Given the description of an element on the screen output the (x, y) to click on. 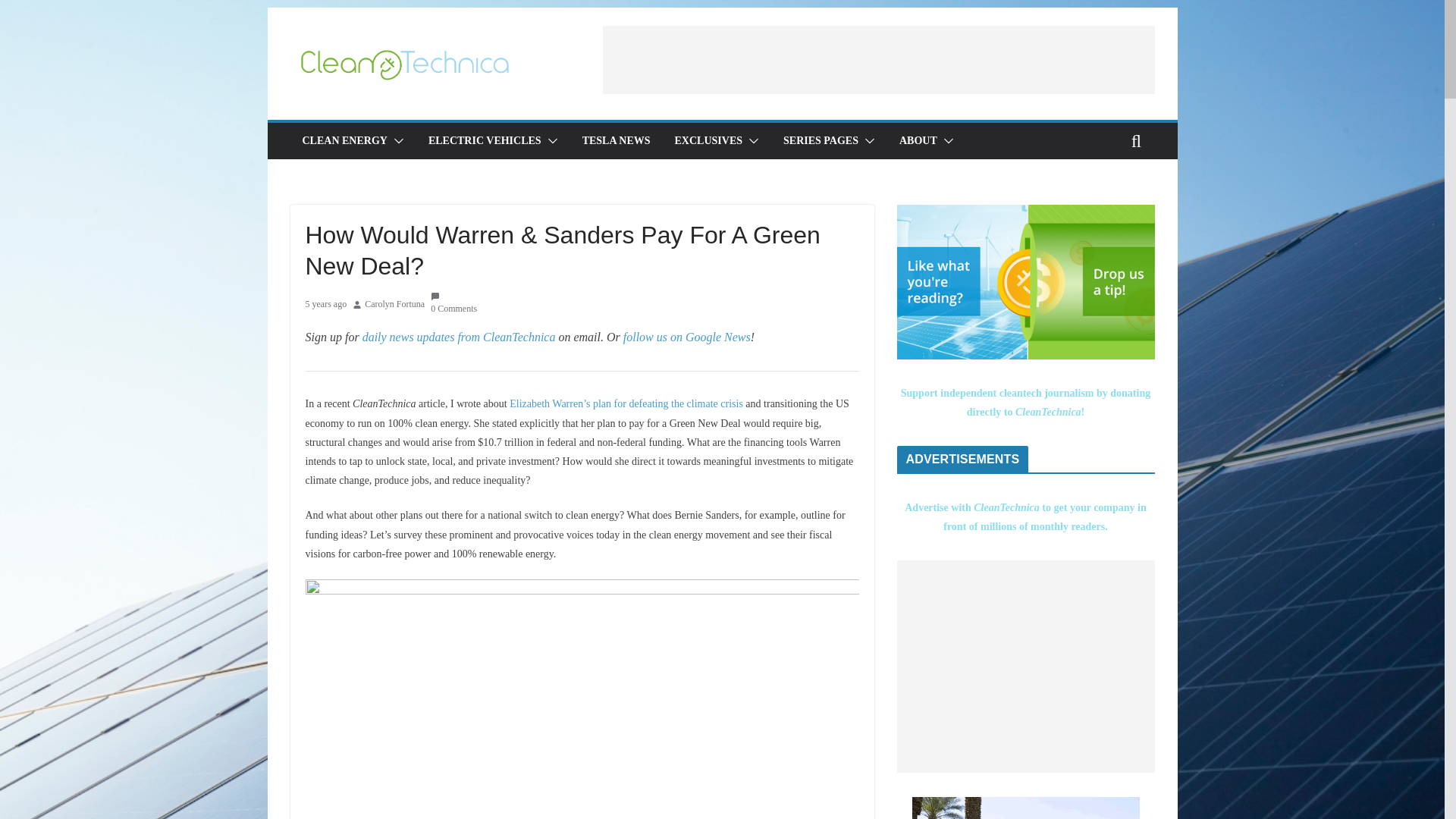
CLEAN ENERGY (344, 140)
TESLA NEWS (616, 140)
SERIES PAGES (821, 140)
EXCLUSIVES (708, 140)
Advertisement (878, 59)
Carolyn Fortuna (395, 304)
Advertisement (1025, 666)
ELECTRIC VEHICLES (484, 140)
